Given the description of an element on the screen output the (x, y) to click on. 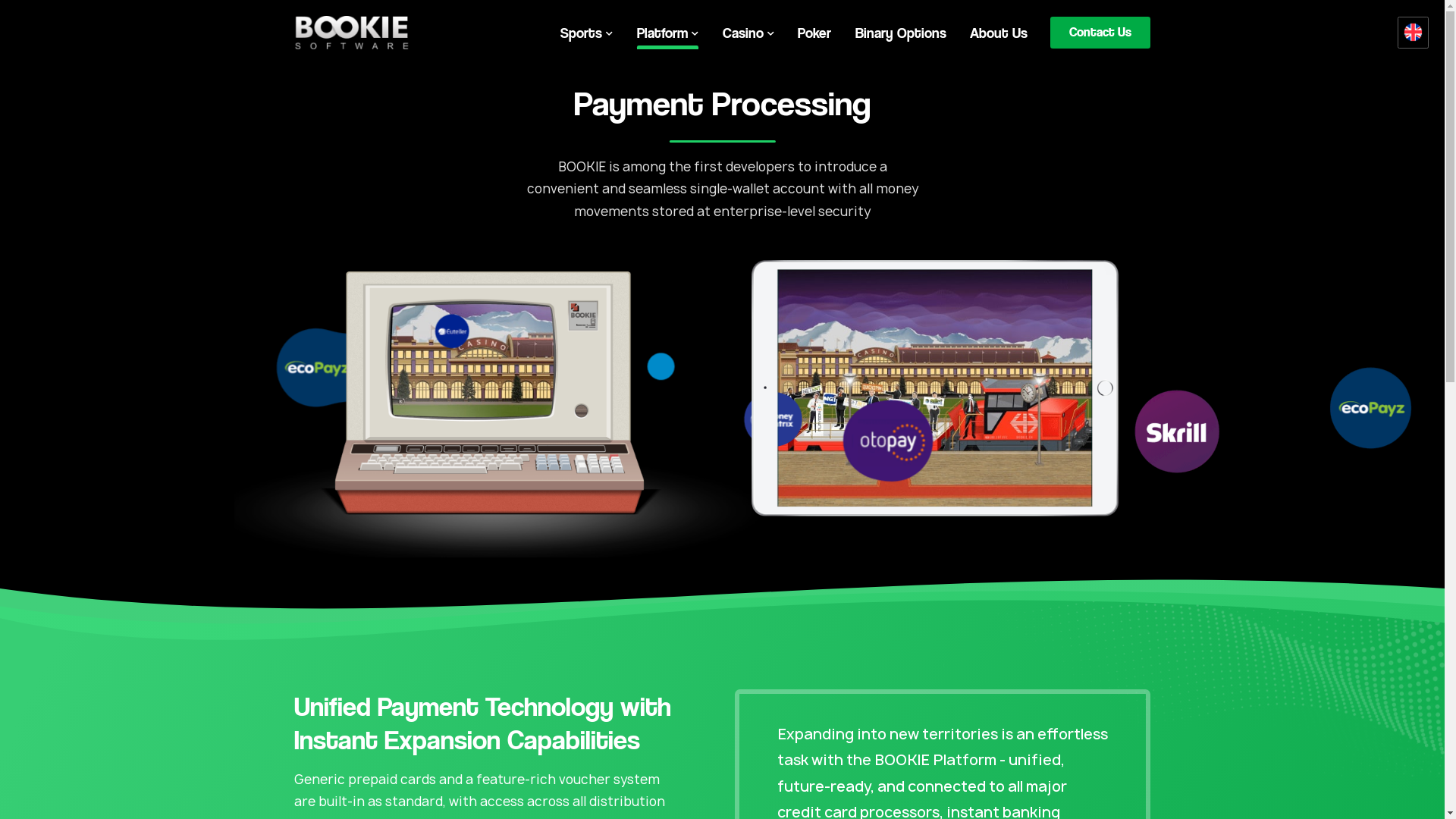
Platform Element type: text (606, 29)
About Us Element type: text (908, 29)
Contact Us Element type: text (999, 29)
Sports Element type: text (532, 29)
Casino Element type: text (680, 29)
Binary Options Element type: text (818, 29)
Poker Element type: text (739, 29)
